Given the description of an element on the screen output the (x, y) to click on. 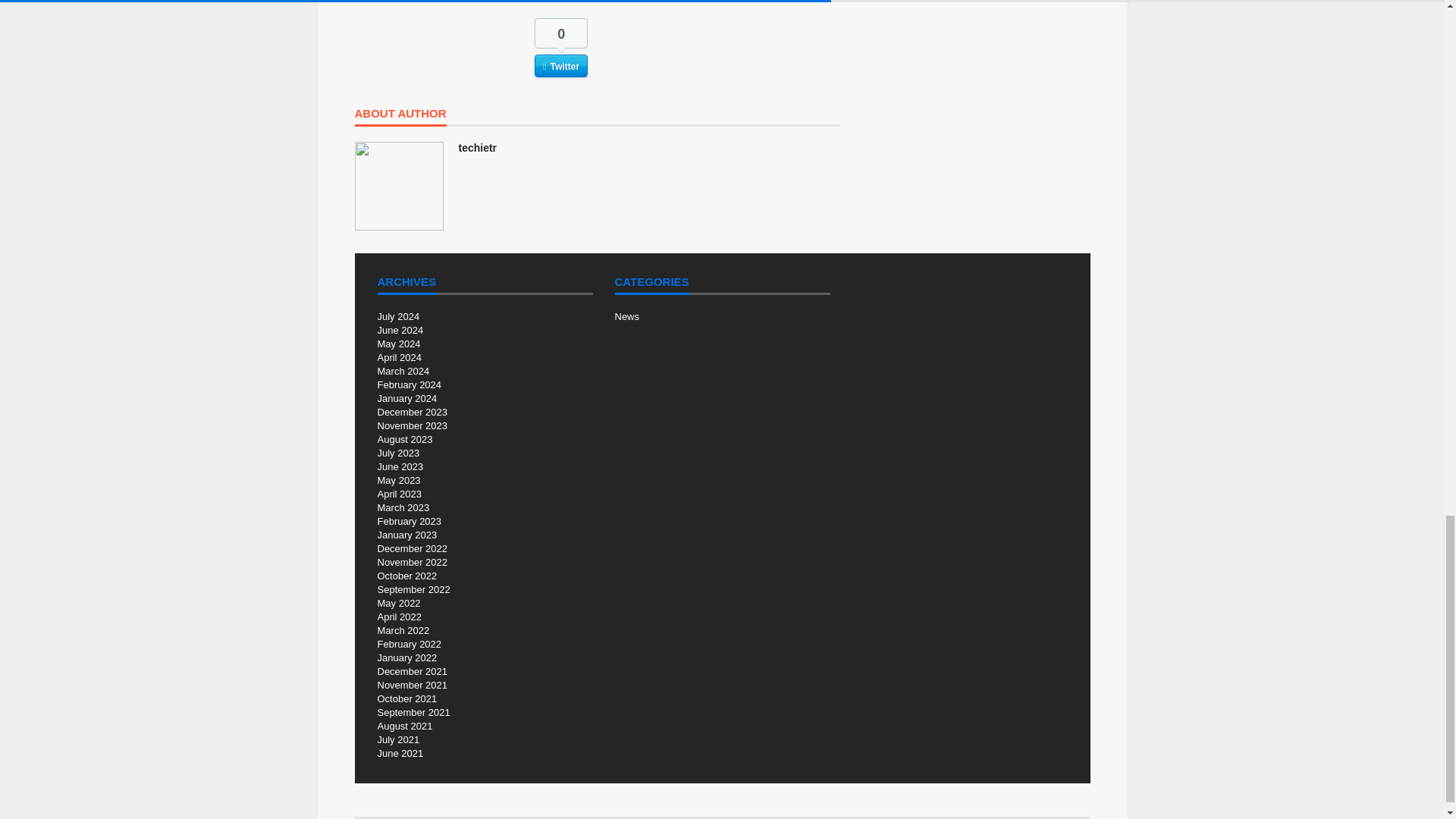
April 2024 (399, 357)
July 2024 (398, 316)
ABOUT AUTHOR (400, 116)
0 (561, 33)
June 2024 (400, 329)
Twitter (561, 65)
May 2024 (398, 343)
